Given the description of an element on the screen output the (x, y) to click on. 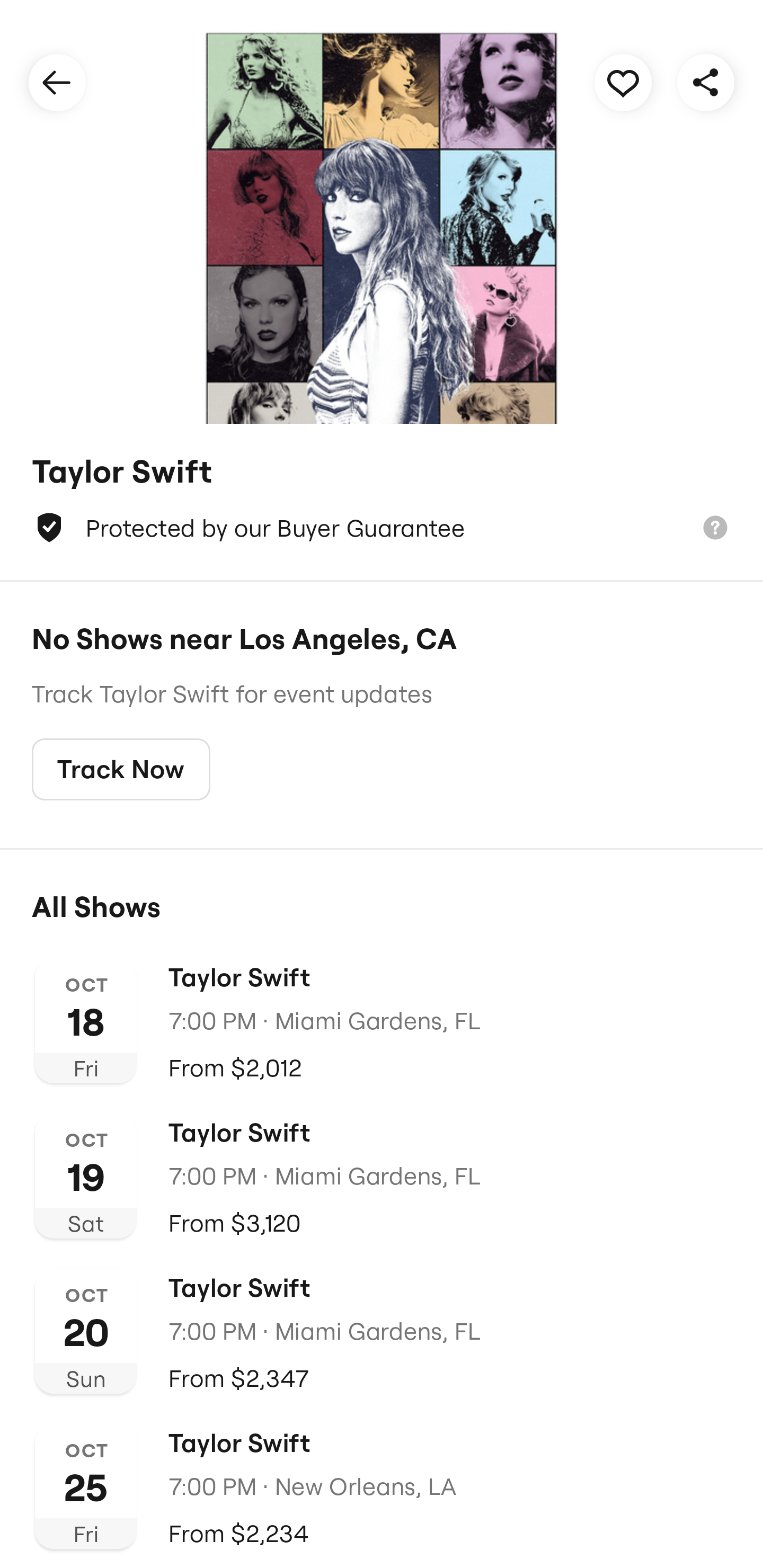
Back (57, 81)
Track this performer (623, 81)
Share this performer (705, 81)
Protected by our Buyer Guarantee Learn more (381, 527)
Track Now (121, 769)
